Given the description of an element on the screen output the (x, y) to click on. 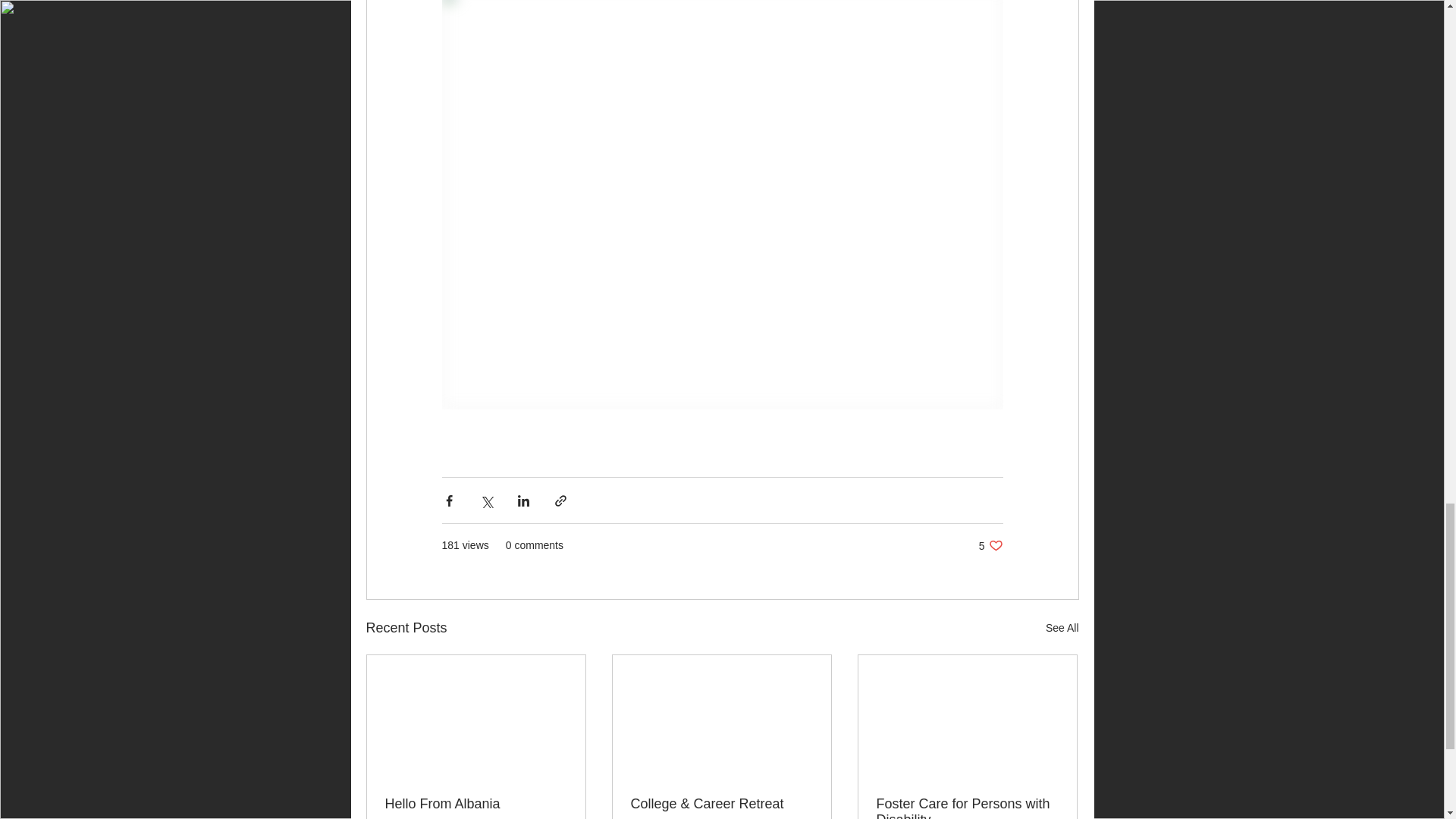
Hello From Albania (476, 804)
Foster Care for Persons with Disability (967, 807)
See All (990, 545)
